Given the description of an element on the screen output the (x, y) to click on. 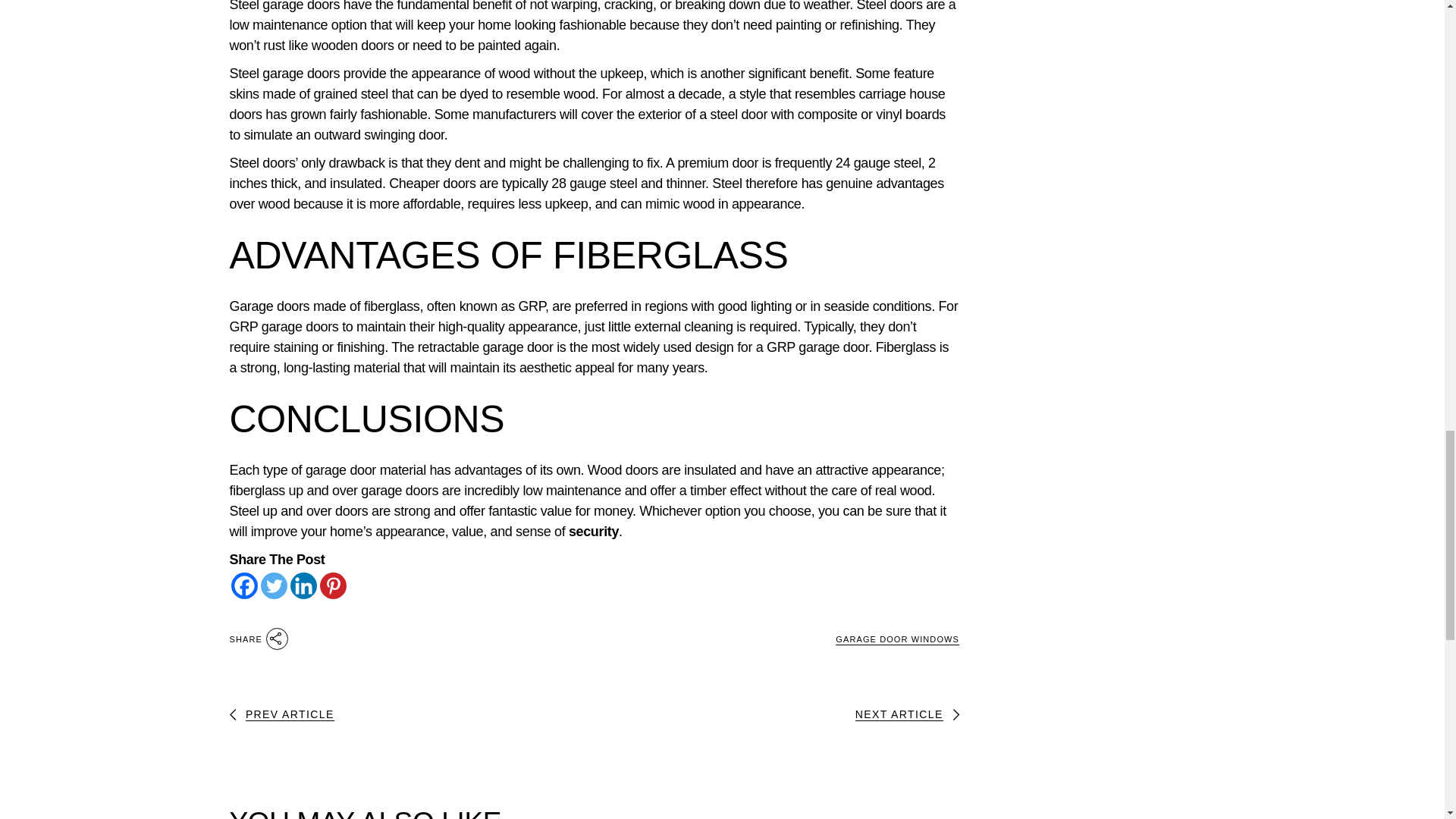
Linkedin (302, 585)
Pinterest (333, 585)
Facebook (243, 585)
Twitter (273, 585)
